Given the description of an element on the screen output the (x, y) to click on. 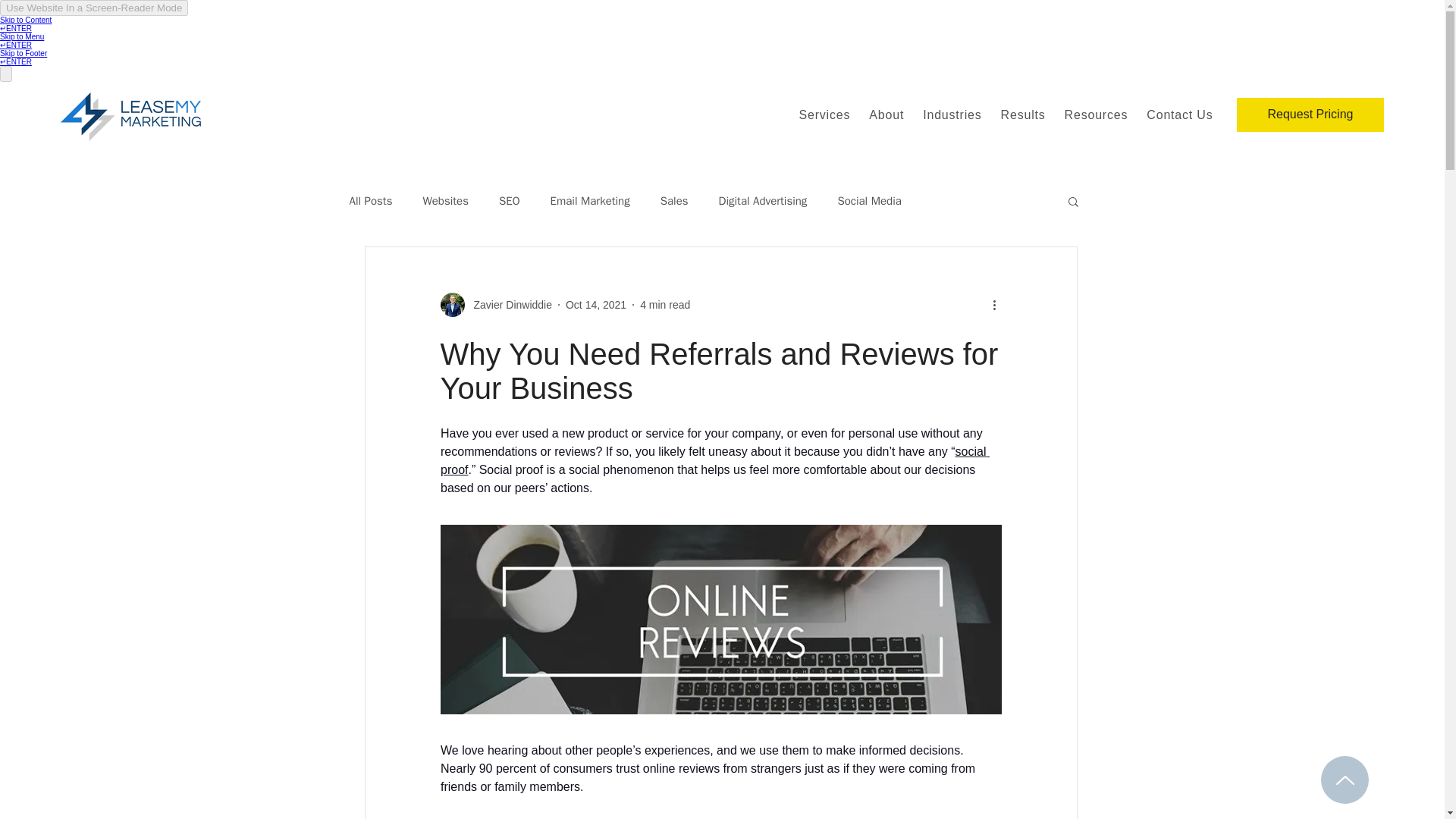
Oct 14, 2021 (596, 304)
Zavier Dinwiddie (507, 304)
Services (824, 114)
4 min read (665, 304)
